Given the description of an element on the screen output the (x, y) to click on. 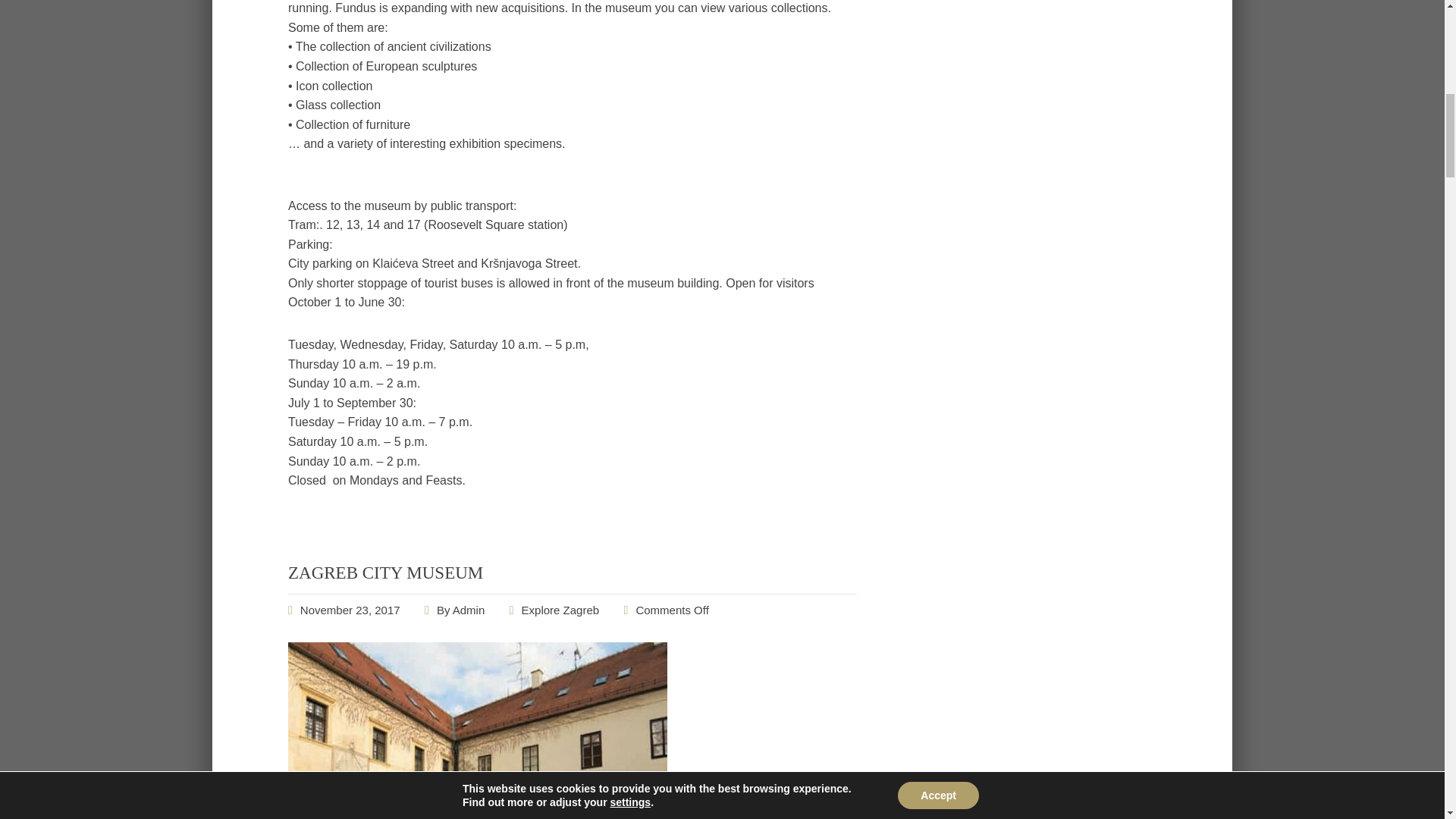
Admin (468, 609)
November 23, 2017 (349, 609)
ZAGREB CITY MUSEUM (385, 572)
Posts by Admin (468, 609)
ZAGREB CITY MUSEUM (349, 609)
ZAGREB CITY MUSEUM (385, 572)
Explore Zagreb (560, 609)
